Given the description of an element on the screen output the (x, y) to click on. 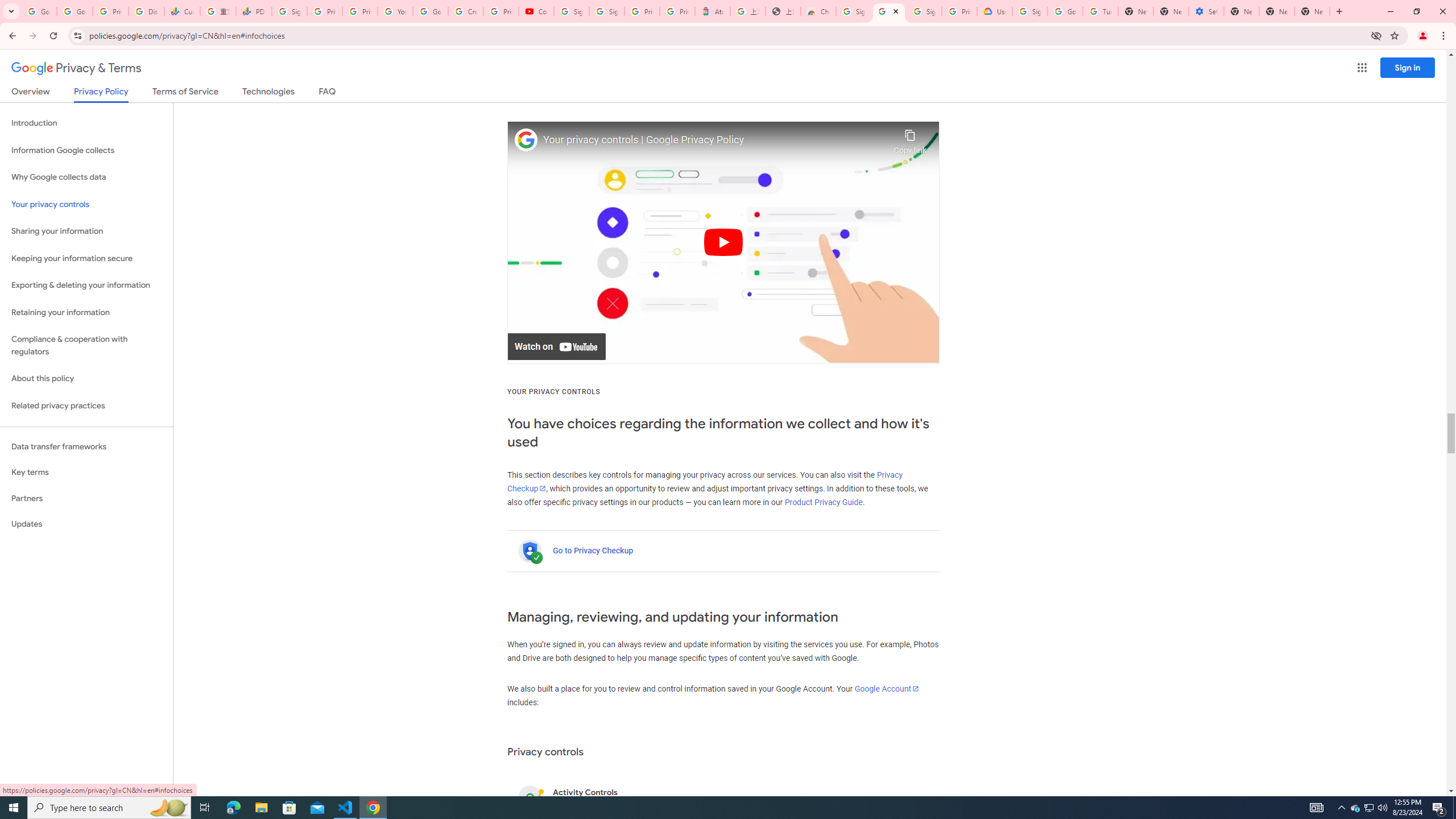
Currencies - Google Finance (181, 11)
Data transfer frameworks (86, 446)
Content Creator Programs & Opportunities - YouTube Creators (536, 11)
Your privacy controls | Google Privacy Policy (715, 140)
Key terms (86, 472)
Go to Privacy Checkup (593, 550)
Watch on YouTube (556, 346)
Sign in - Google Accounts (1029, 11)
Photo image of Google (526, 139)
